Given the description of an element on the screen output the (x, y) to click on. 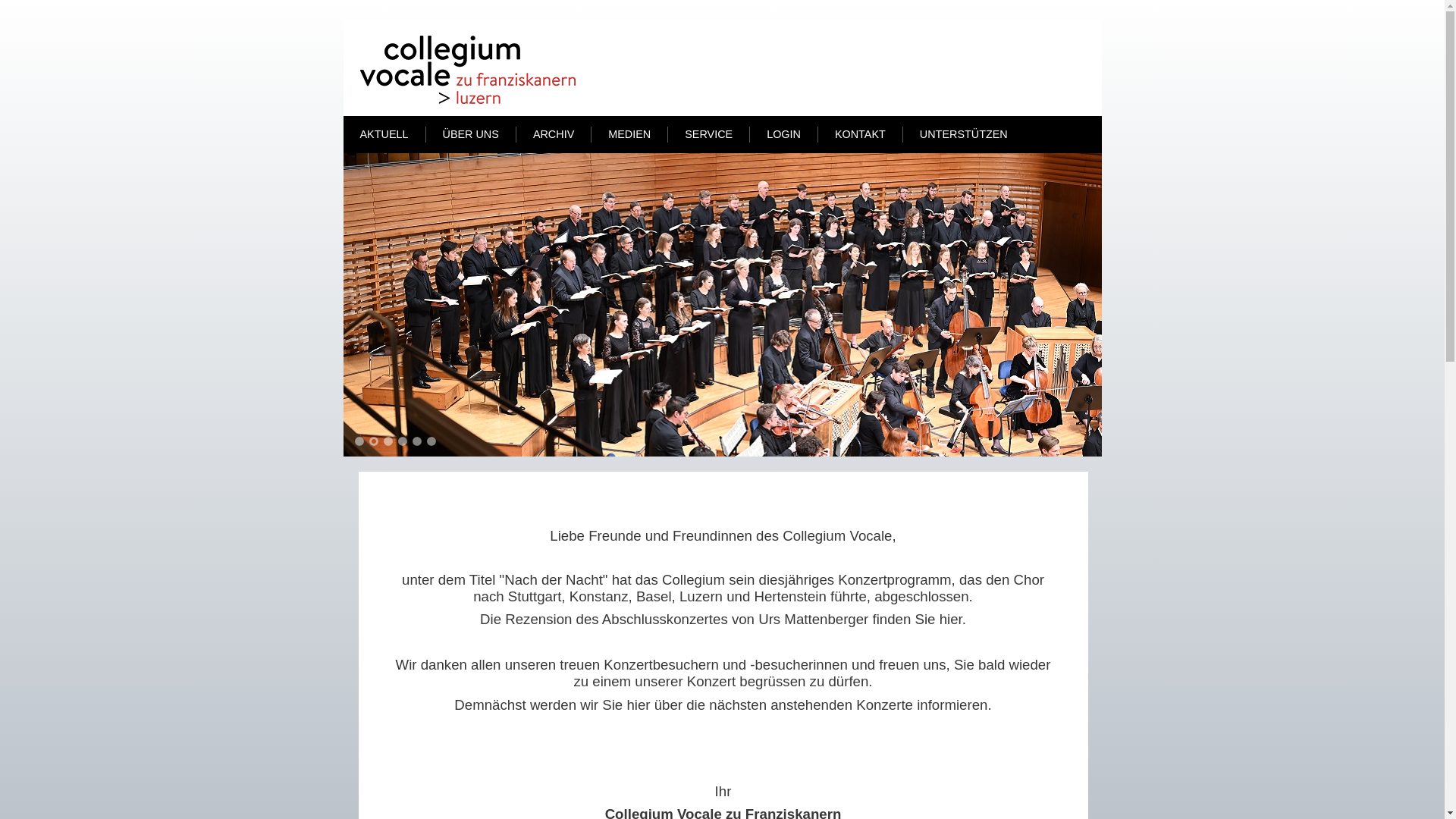
KONTAKT Element type: text (860, 133)
1 Element type: text (359, 440)
2 Element type: text (372, 440)
6 Element type: text (430, 440)
MEDIEN Element type: text (629, 133)
ARCHIV Element type: text (553, 133)
AKTUELL Element type: text (383, 133)
5 Element type: text (416, 440)
SERVICE Element type: text (708, 133)
4 Element type: text (401, 440)
3 Element type: text (387, 440)
LOGIN Element type: text (783, 133)
